Given the description of an element on the screen output the (x, y) to click on. 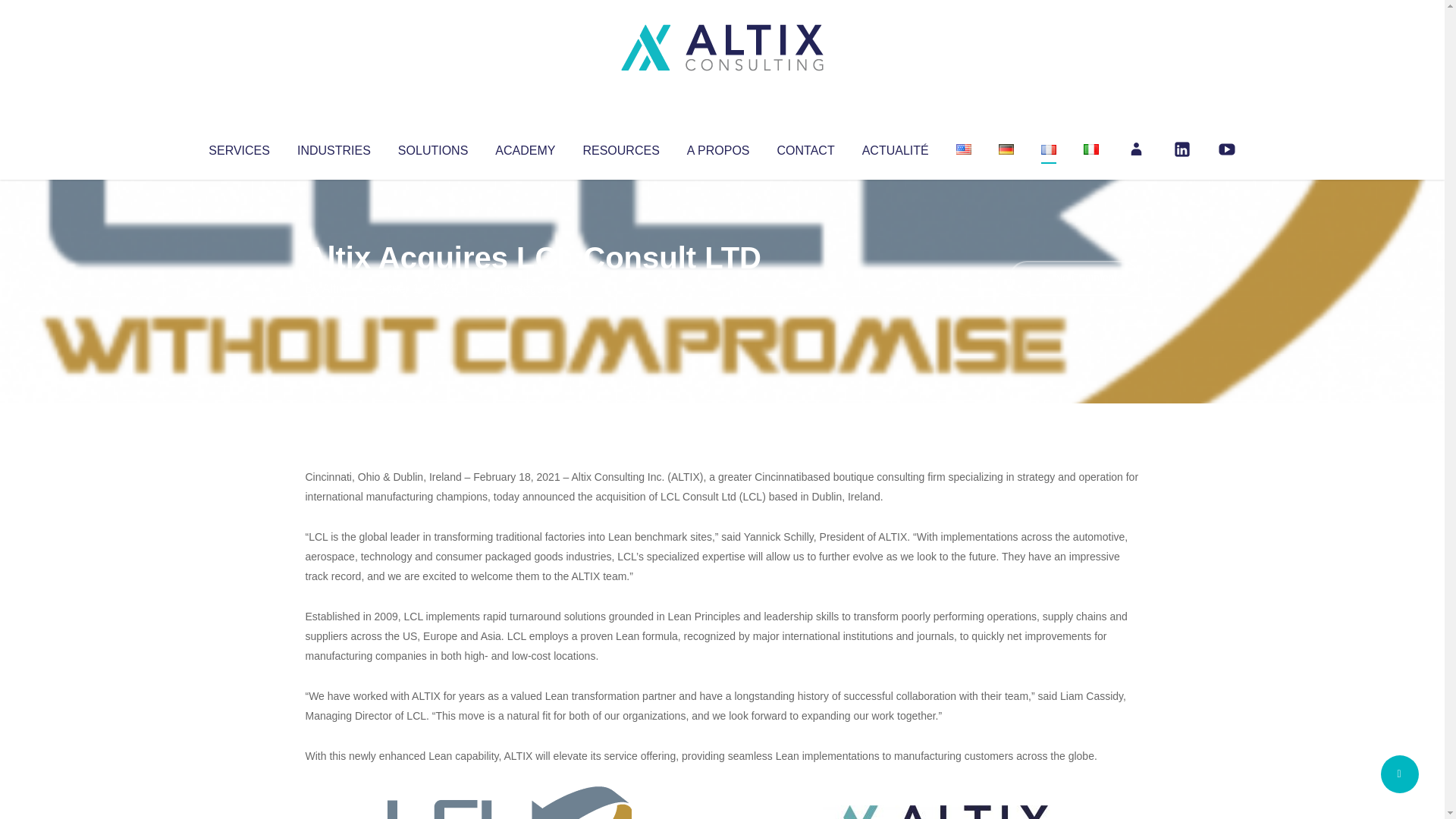
ACADEMY (524, 146)
SERVICES (238, 146)
Uncategorized (530, 287)
RESOURCES (620, 146)
Articles par Altix (333, 287)
INDUSTRIES (334, 146)
SOLUTIONS (432, 146)
No Comments (1073, 278)
A PROPOS (718, 146)
Altix (333, 287)
